Given the description of an element on the screen output the (x, y) to click on. 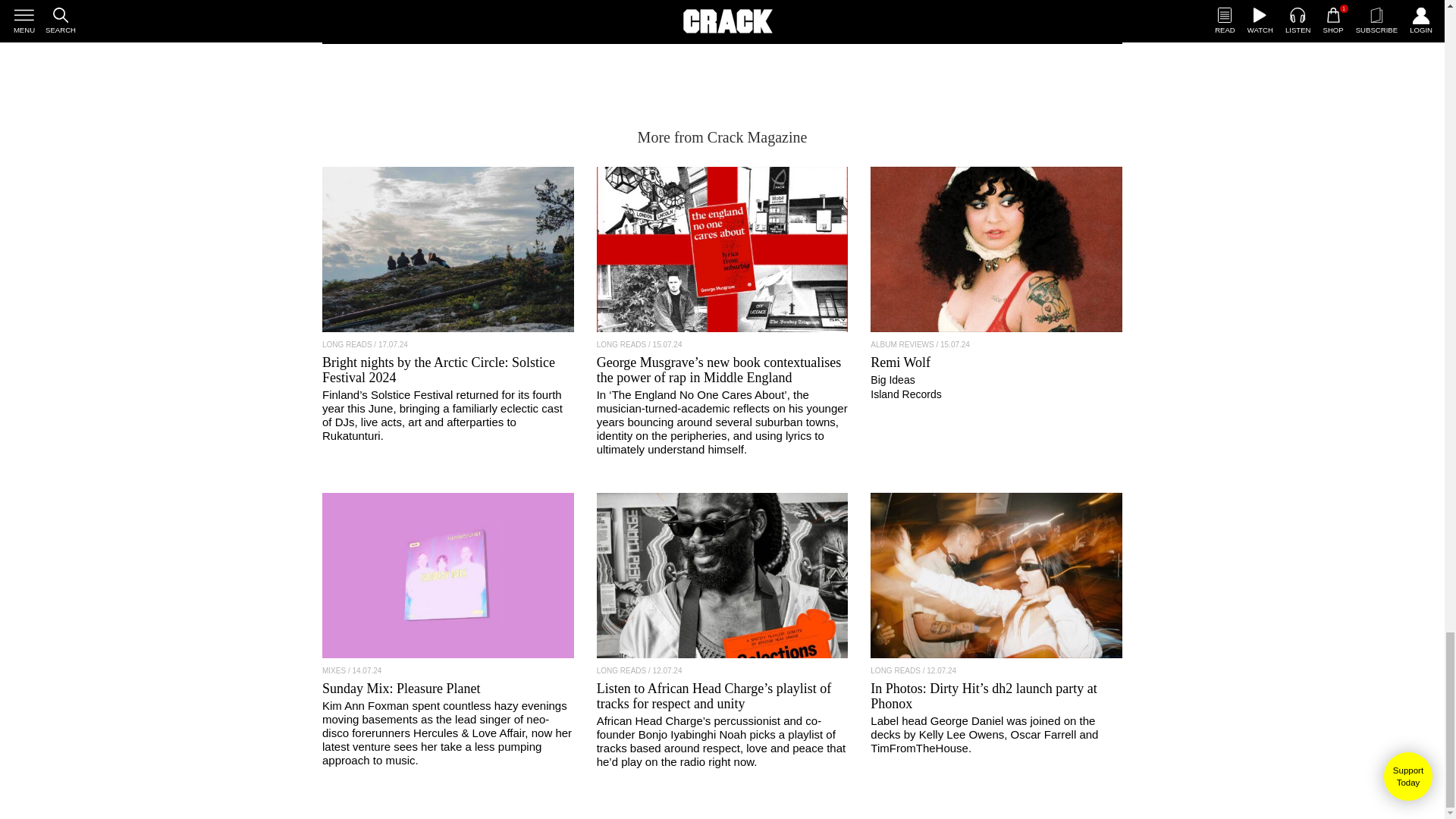
View all posts in Album Reviews (901, 344)
View all posts in Long Reads (621, 344)
View all posts in Mixes (333, 670)
View all posts in Long Reads (895, 670)
View all posts in Long Reads (346, 344)
View all posts in Long Reads (621, 670)
